Given the description of an element on the screen output the (x, y) to click on. 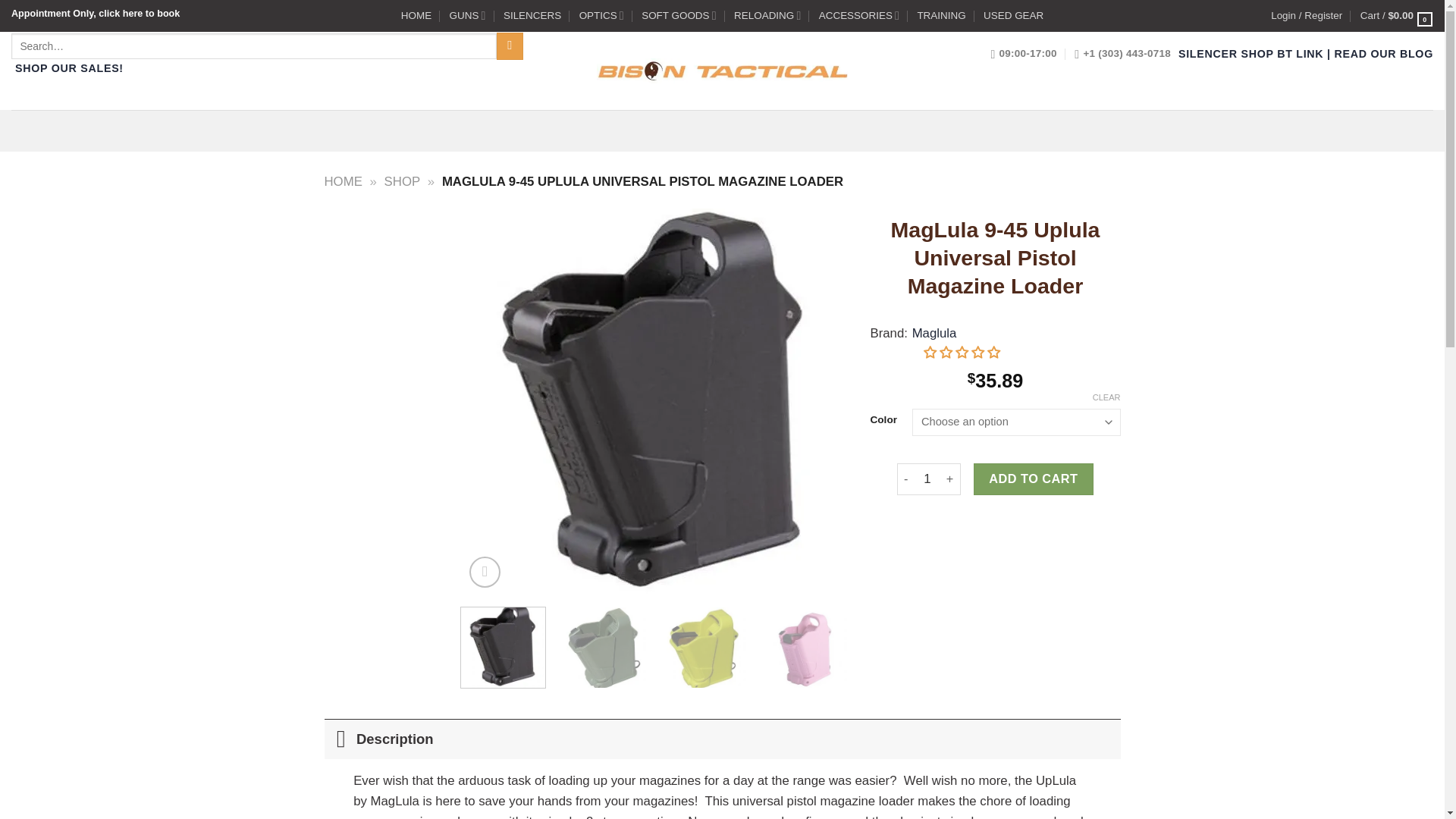
SOFT GOODS (679, 15)
TRAINING (941, 15)
Bison Tactical - Competition Proven Gear (721, 70)
RELOADING (766, 15)
GUNS (467, 15)
USED GEAR (1013, 15)
SILENCERS (531, 15)
MagLula 9-45 Uplula Universal Pistol Magazine Loader 6 (703, 649)
MagLula 9-45 Uplula Universal Pistol Magazine Loader 7 (804, 649)
OPTICS (601, 15)
Cart (1395, 15)
Bison Tactical Homepage (415, 15)
Appointment Only, click here to book (95, 13)
